Given the description of an element on the screen output the (x, y) to click on. 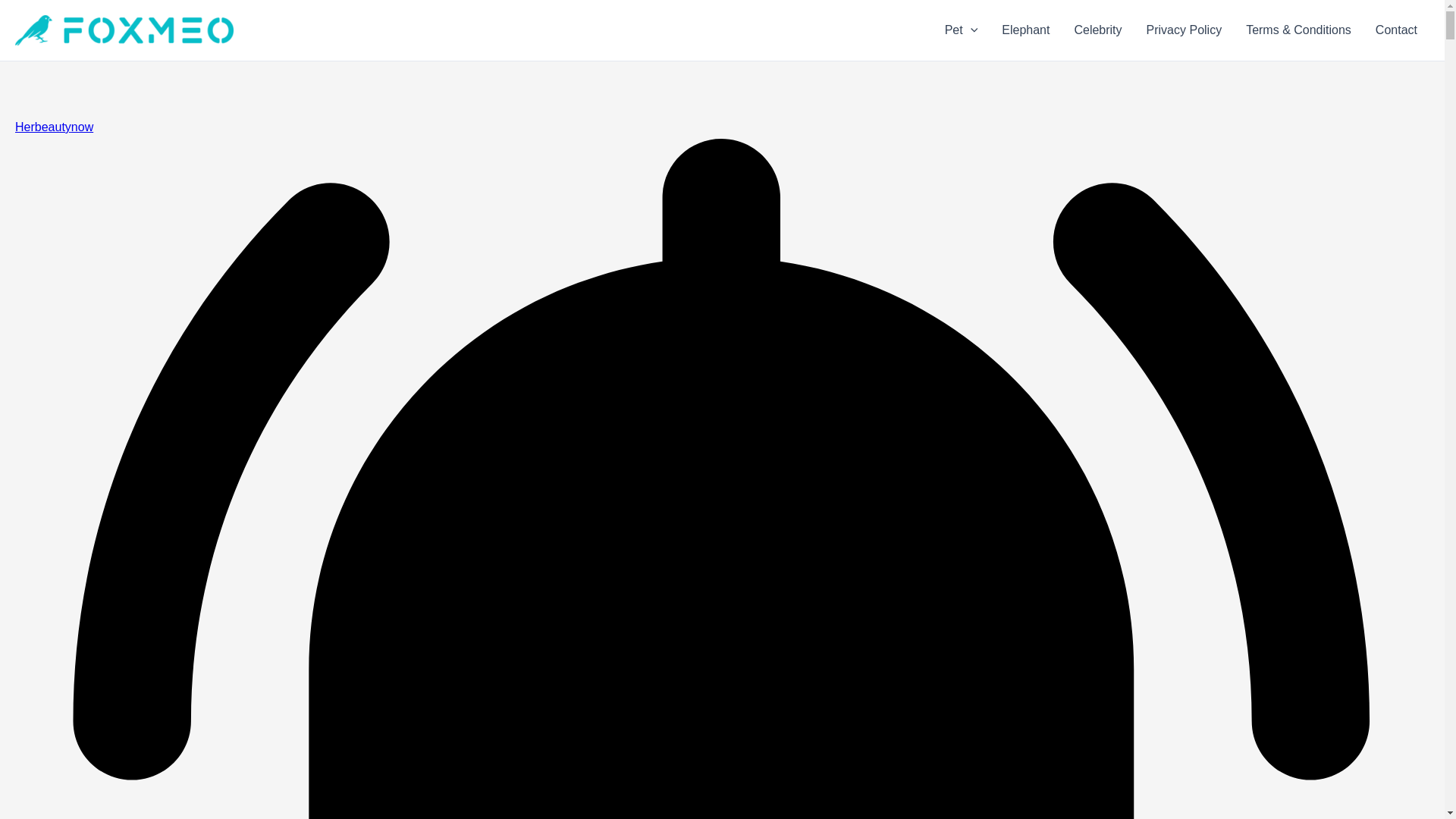
Contact (1395, 30)
Pet (961, 30)
Privacy Policy (1184, 30)
Elephant (1025, 30)
Celebrity (1097, 30)
